Given the description of an element on the screen output the (x, y) to click on. 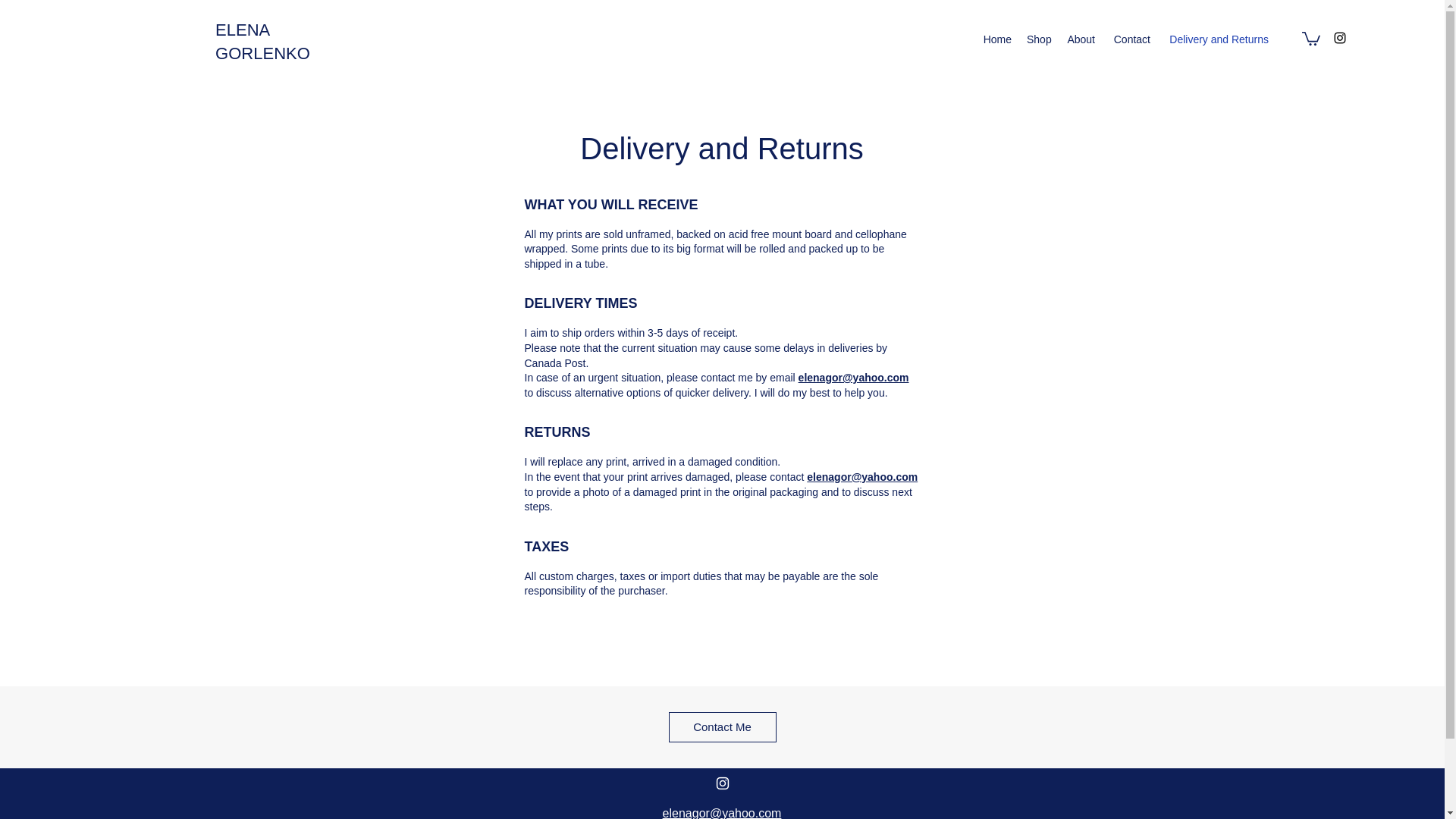
About (1080, 38)
Contact Me (722, 726)
Home (996, 38)
Contact (1129, 38)
Delivery and Returns (1216, 38)
Shop (1038, 38)
